Given the description of an element on the screen output the (x, y) to click on. 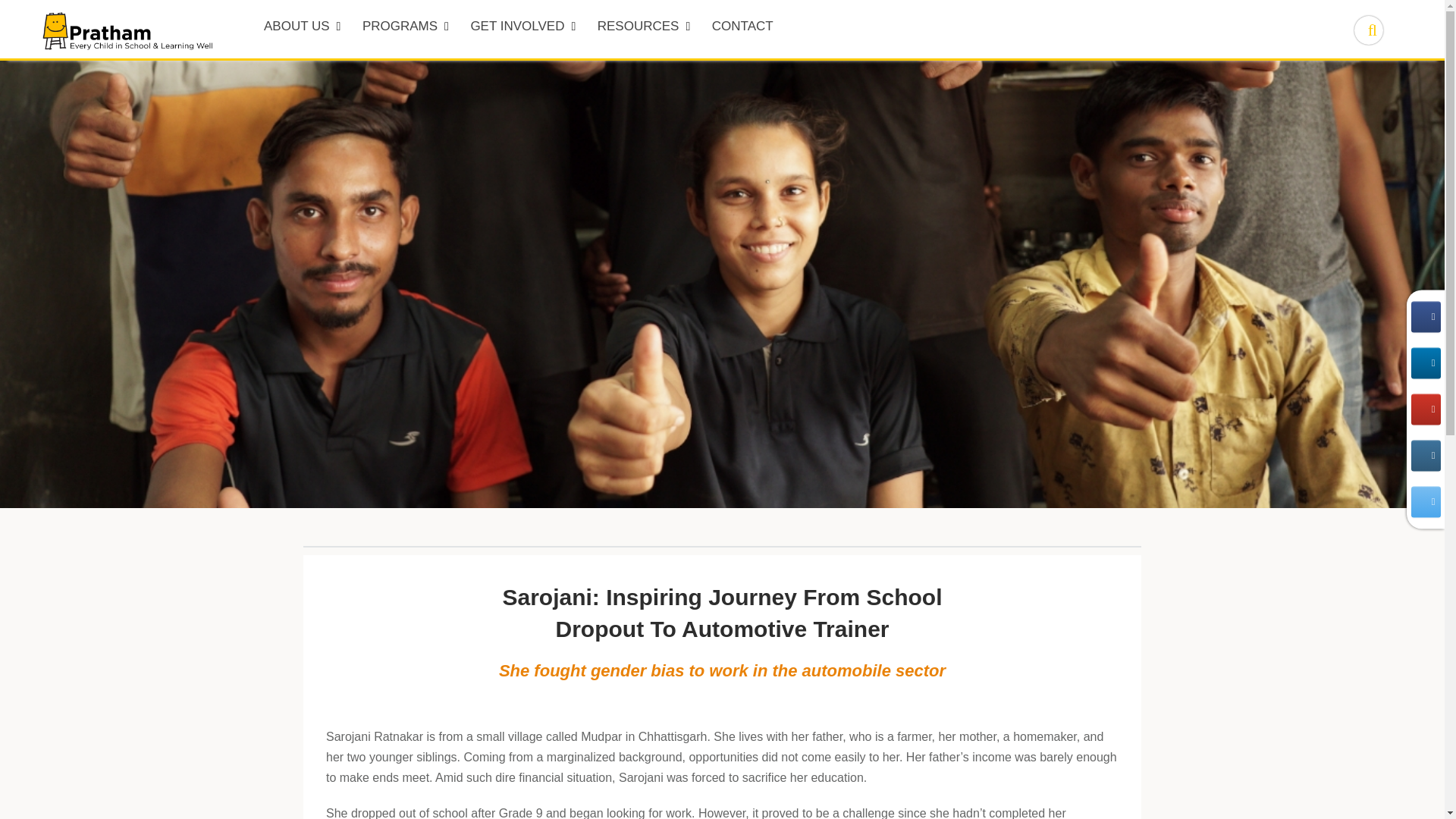
Pratham on Facebook (1424, 317)
Pratham on Instagram (1424, 454)
ABOUT US (301, 29)
RESOURCES (644, 29)
Pratham on Youtube (1424, 409)
PROGRAMS (405, 29)
CONTACT (743, 29)
Twitter (1424, 501)
Pratham on Linkedin (1424, 362)
GET INVOLVED (523, 29)
